Given the description of an element on the screen output the (x, y) to click on. 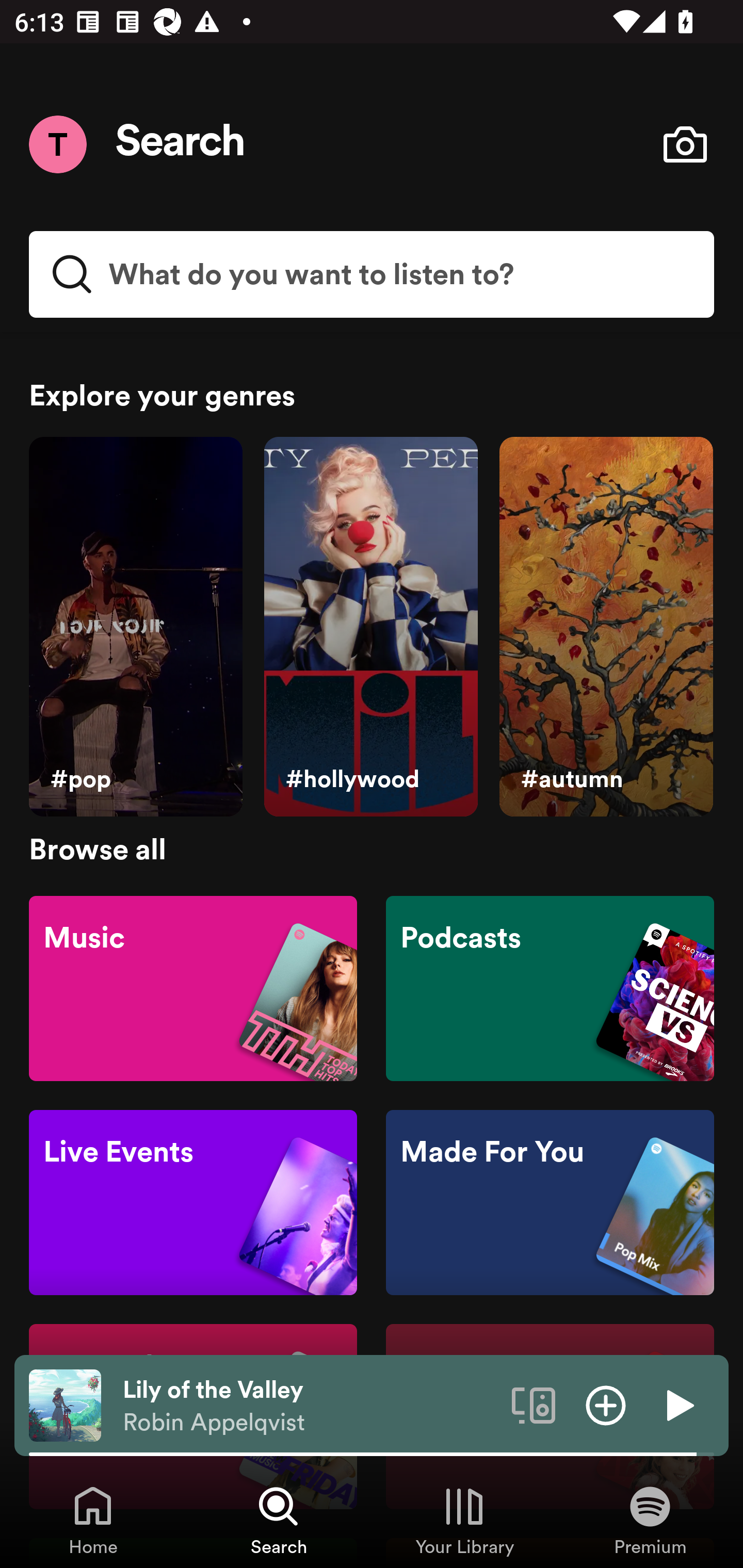
Menu (57, 144)
Open camera (685, 145)
Search (180, 144)
#pop (135, 626)
#hollywood (370, 626)
#autumn (606, 626)
Music (192, 987)
Podcasts (549, 987)
Live Events (192, 1202)
Made For You (549, 1202)
Lily of the Valley Robin Appelqvist (309, 1405)
The cover art of the currently playing track (64, 1404)
Connect to a device. Opens the devices menu (533, 1404)
Add item (605, 1404)
Play (677, 1404)
Home, Tab 1 of 4 Home Home (92, 1519)
Search, Tab 2 of 4 Search Search (278, 1519)
Your Library, Tab 3 of 4 Your Library Your Library (464, 1519)
Premium, Tab 4 of 4 Premium Premium (650, 1519)
